Given the description of an element on the screen output the (x, y) to click on. 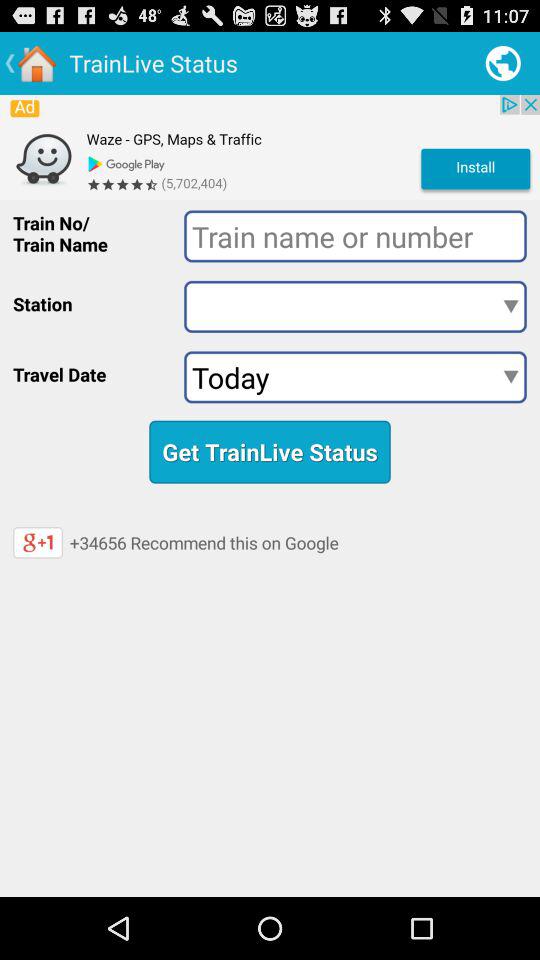
enter your train name or number (355, 236)
